Given the description of an element on the screen output the (x, y) to click on. 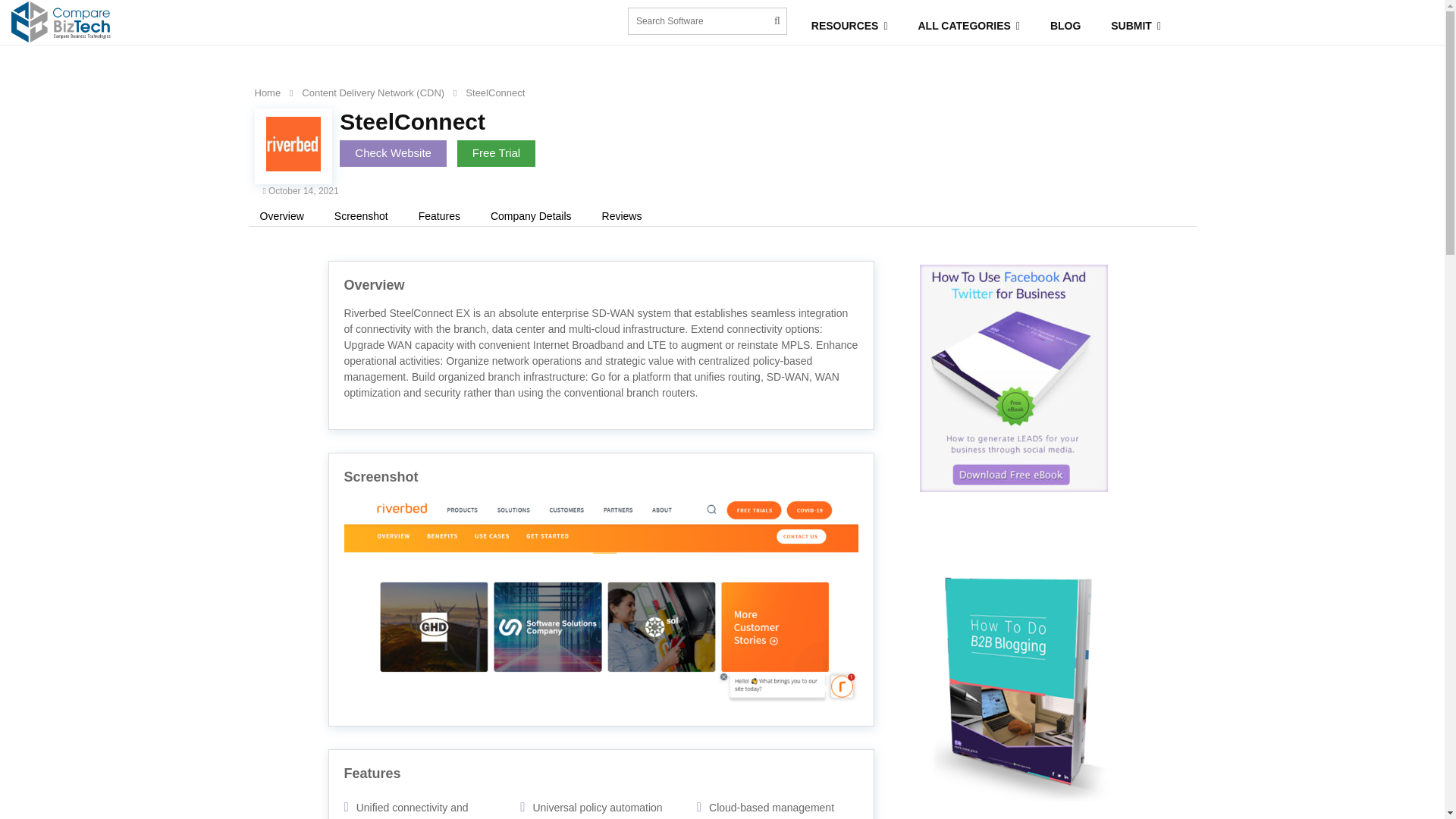
Overview (281, 216)
Home (267, 92)
Company Details (531, 216)
SUBMIT (1135, 26)
Reviews (622, 216)
Free Trial (496, 153)
Features (439, 216)
Check Website (392, 153)
ALL CATEGORIES (968, 26)
RESOURCES (849, 26)
